Given the description of an element on the screen output the (x, y) to click on. 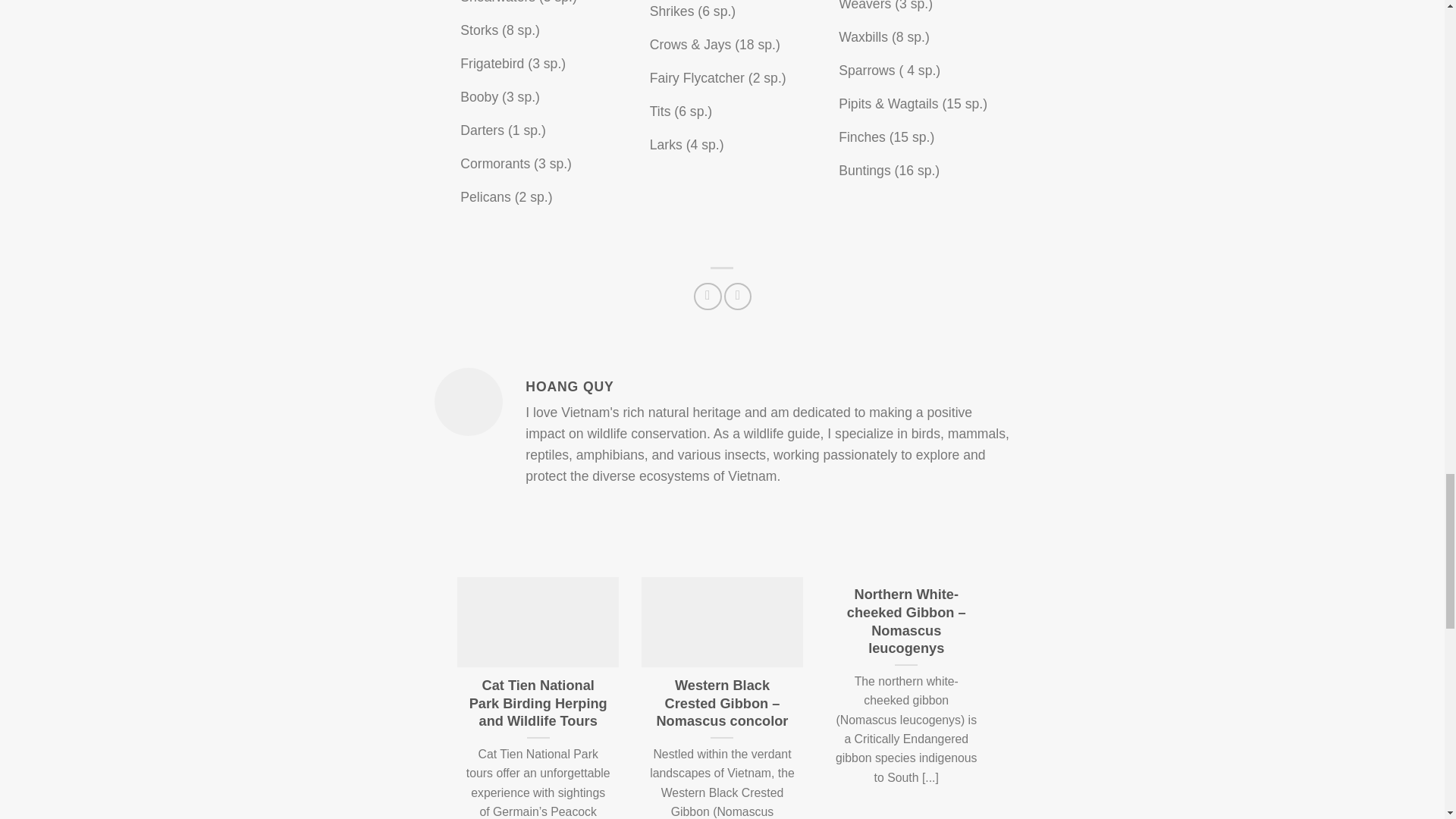
Email to a Friend (737, 296)
Share on Facebook (707, 296)
Western Black Crested Gibbon - Nomascus concolor 6 (722, 622)
Cat Tien National Park Birding Herping and Wildlife Tours 5 (537, 622)
